Given the description of an element on the screen output the (x, y) to click on. 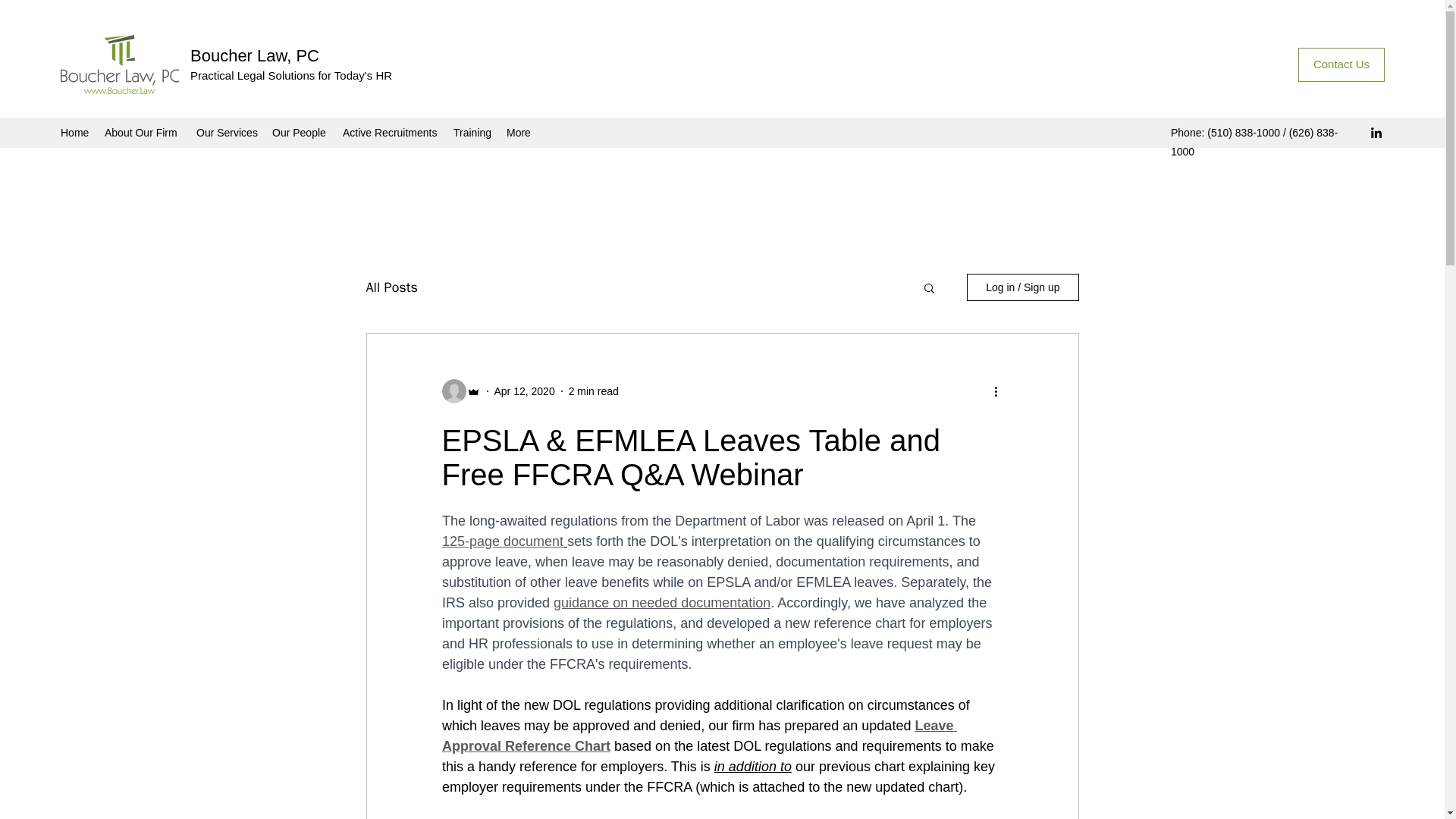
Boucher Law, PC (254, 55)
25-page document (506, 540)
Contact Us (1341, 64)
guidance on needed documentation (661, 602)
2 min read (593, 390)
Active Recruitments (389, 132)
Home (74, 132)
Leave Approval Reference Chart (698, 735)
Training (472, 132)
Apr 12, 2020 (524, 390)
All Posts (390, 287)
Our Services (226, 132)
About Our Firm (143, 132)
Our People (299, 132)
